Given the description of an element on the screen output the (x, y) to click on. 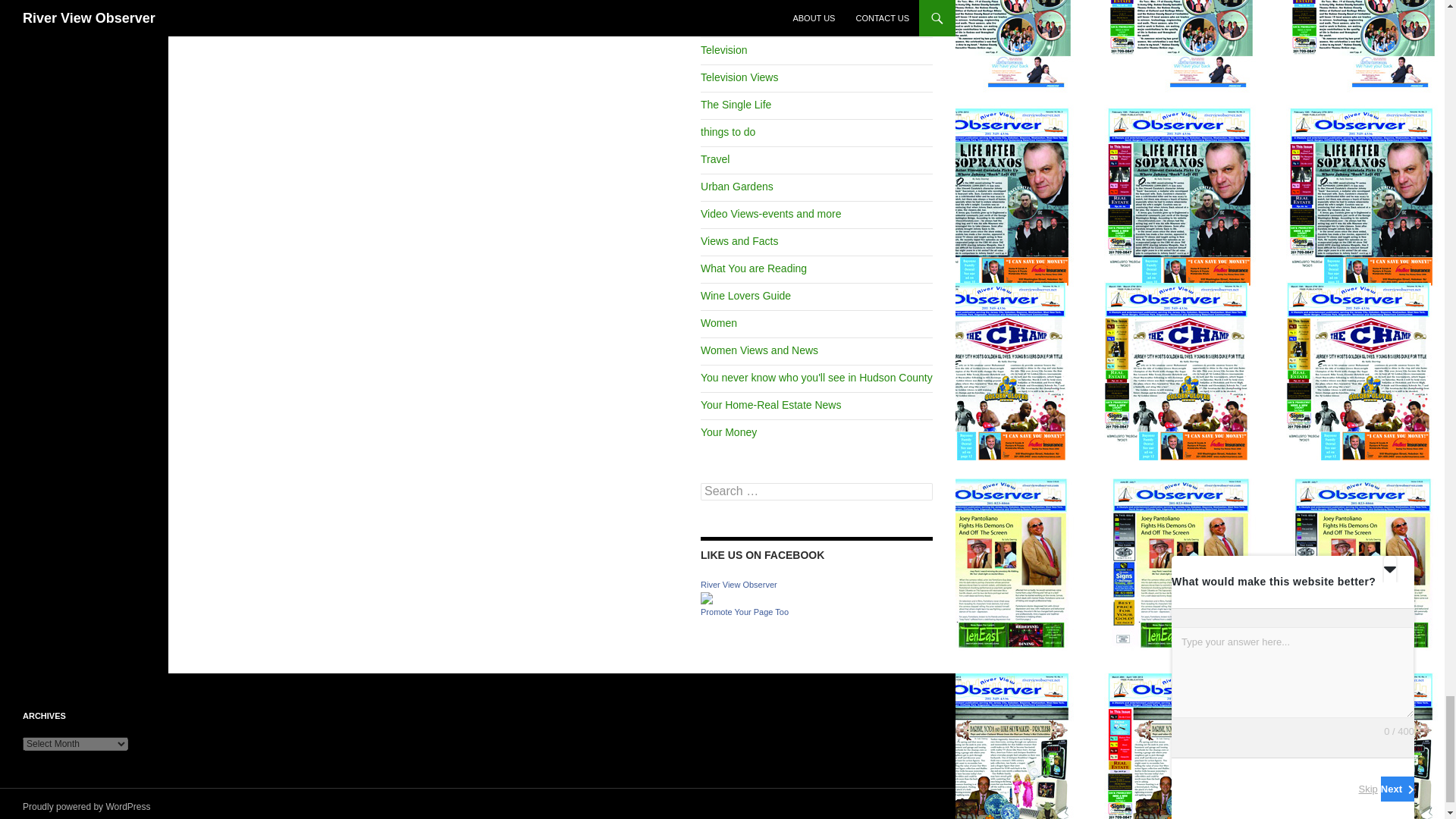
Make your own badge! (744, 611)
River View Observer (706, 597)
River View Observer (738, 583)
